Given the description of an element on the screen output the (x, y) to click on. 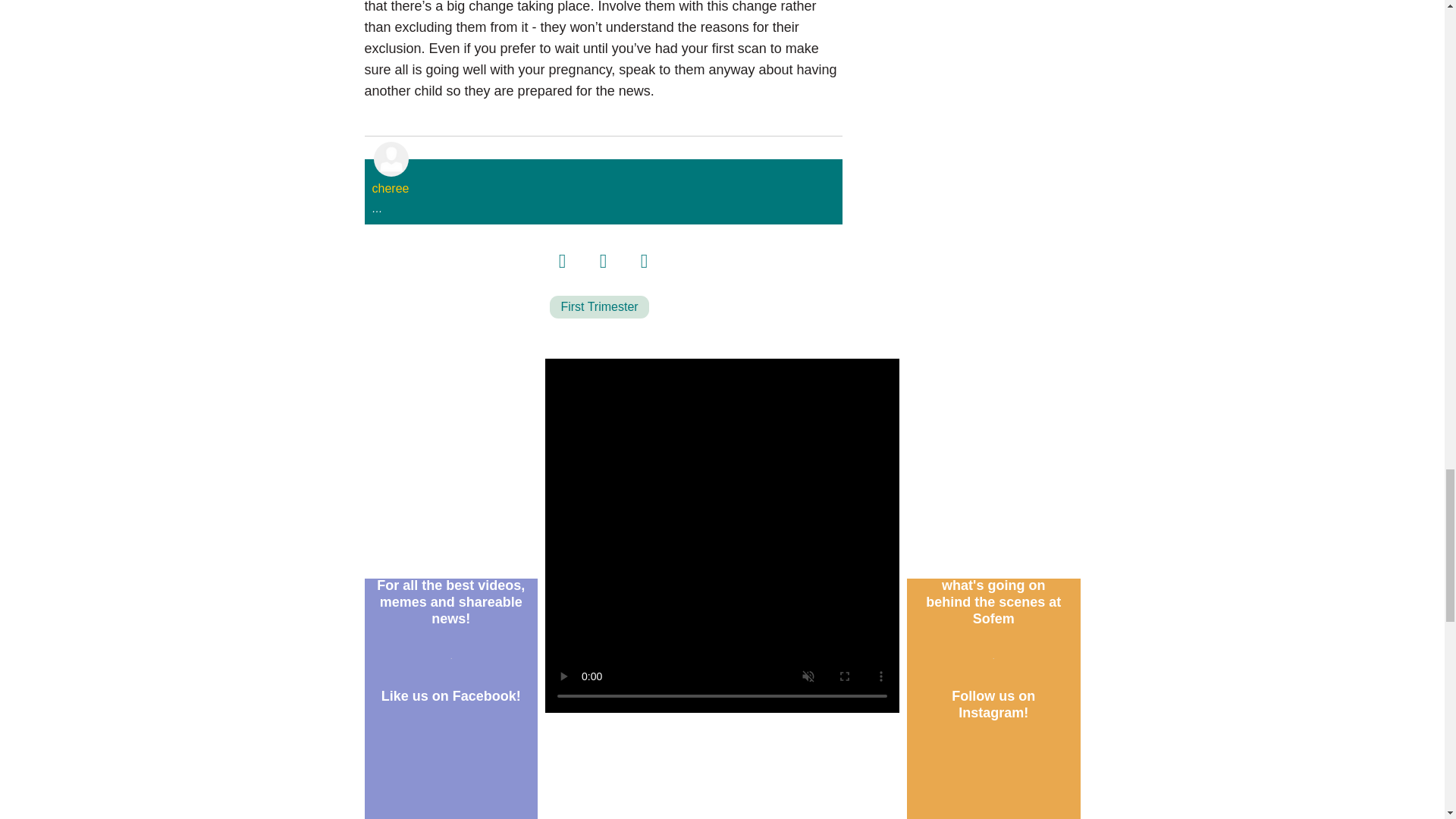
First Trimester (598, 306)
First Trimester (598, 306)
cheree (390, 188)
